Given the description of an element on the screen output the (x, y) to click on. 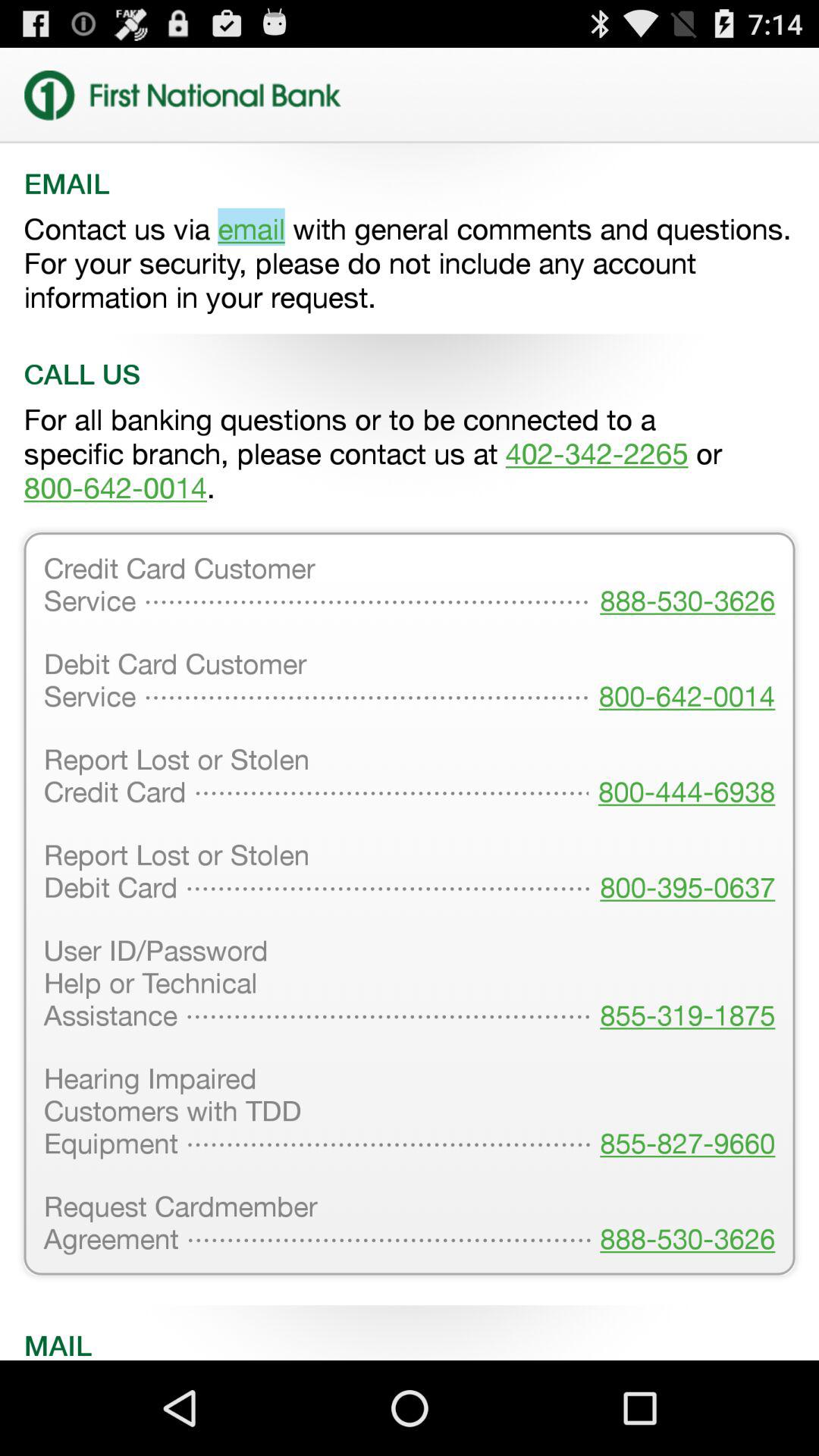
click 800-444-6938 item (681, 777)
